Given the description of an element on the screen output the (x, y) to click on. 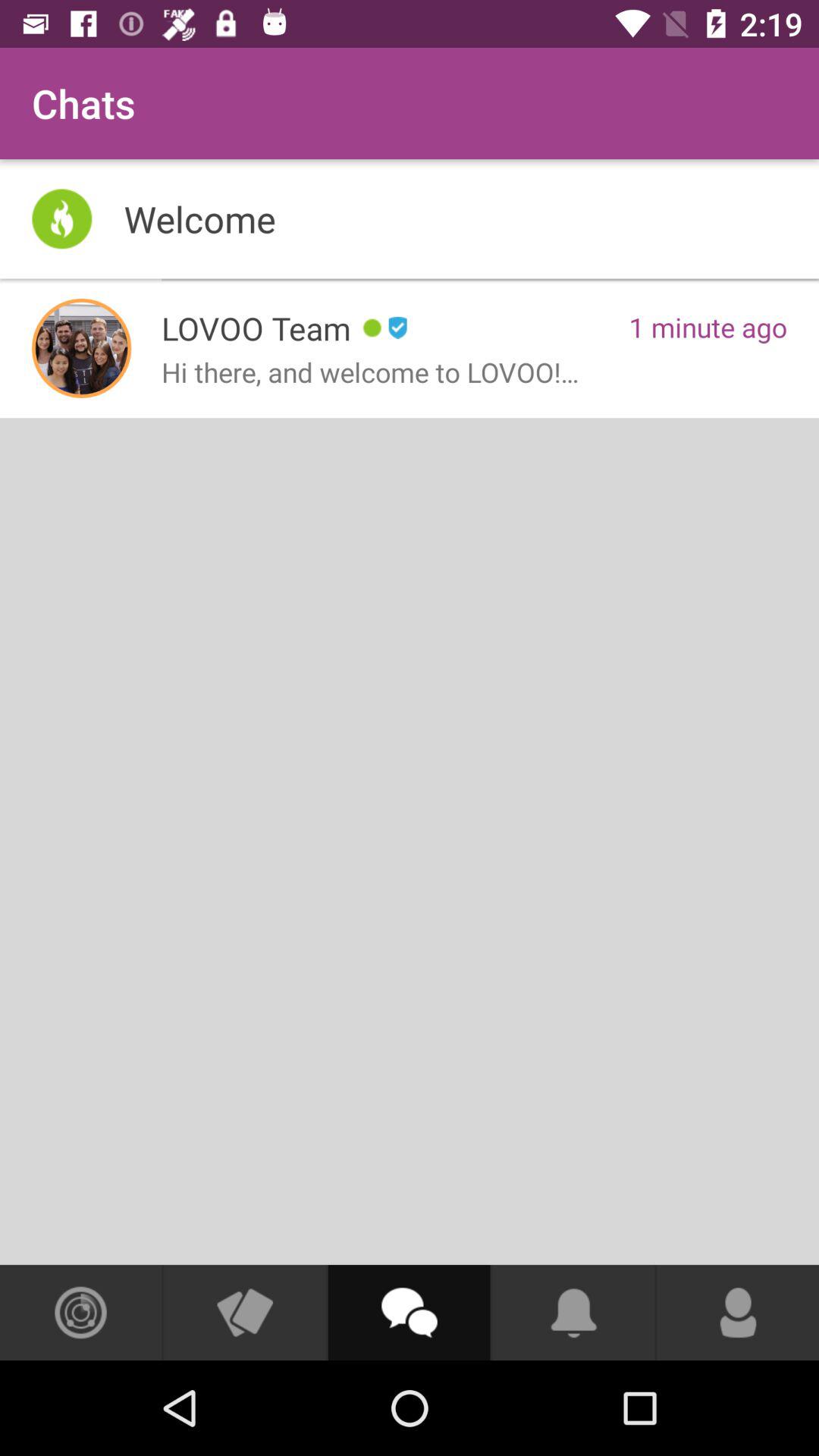
account information (737, 1312)
